Given the description of an element on the screen output the (x, y) to click on. 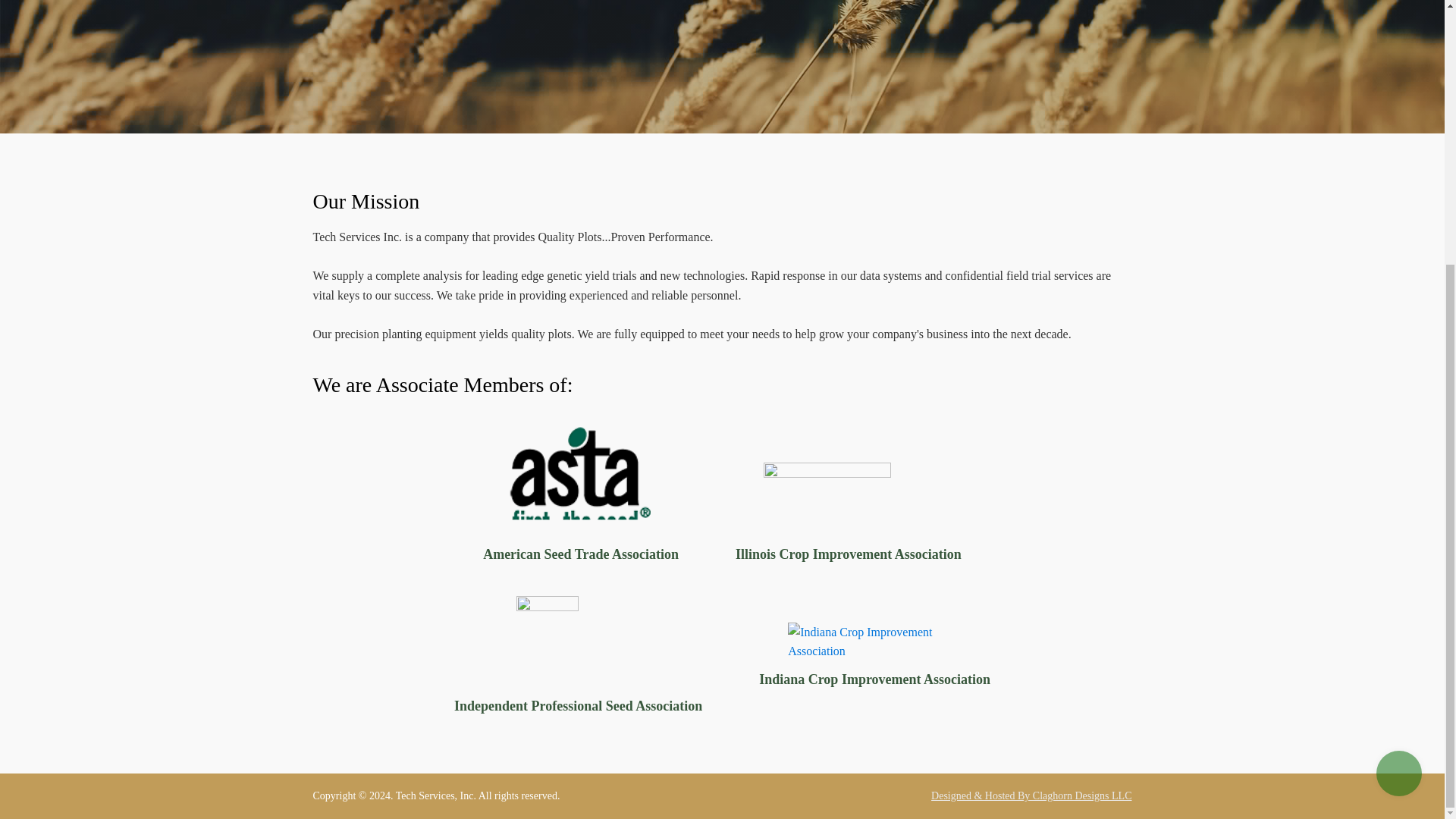
Indiana Crop Improvement Association (874, 656)
Independent Professional Seed Association (577, 656)
Top (1398, 391)
American Seed Trade Association (580, 495)
Illinois Crop Improvement Association (847, 513)
